Given the description of an element on the screen output the (x, y) to click on. 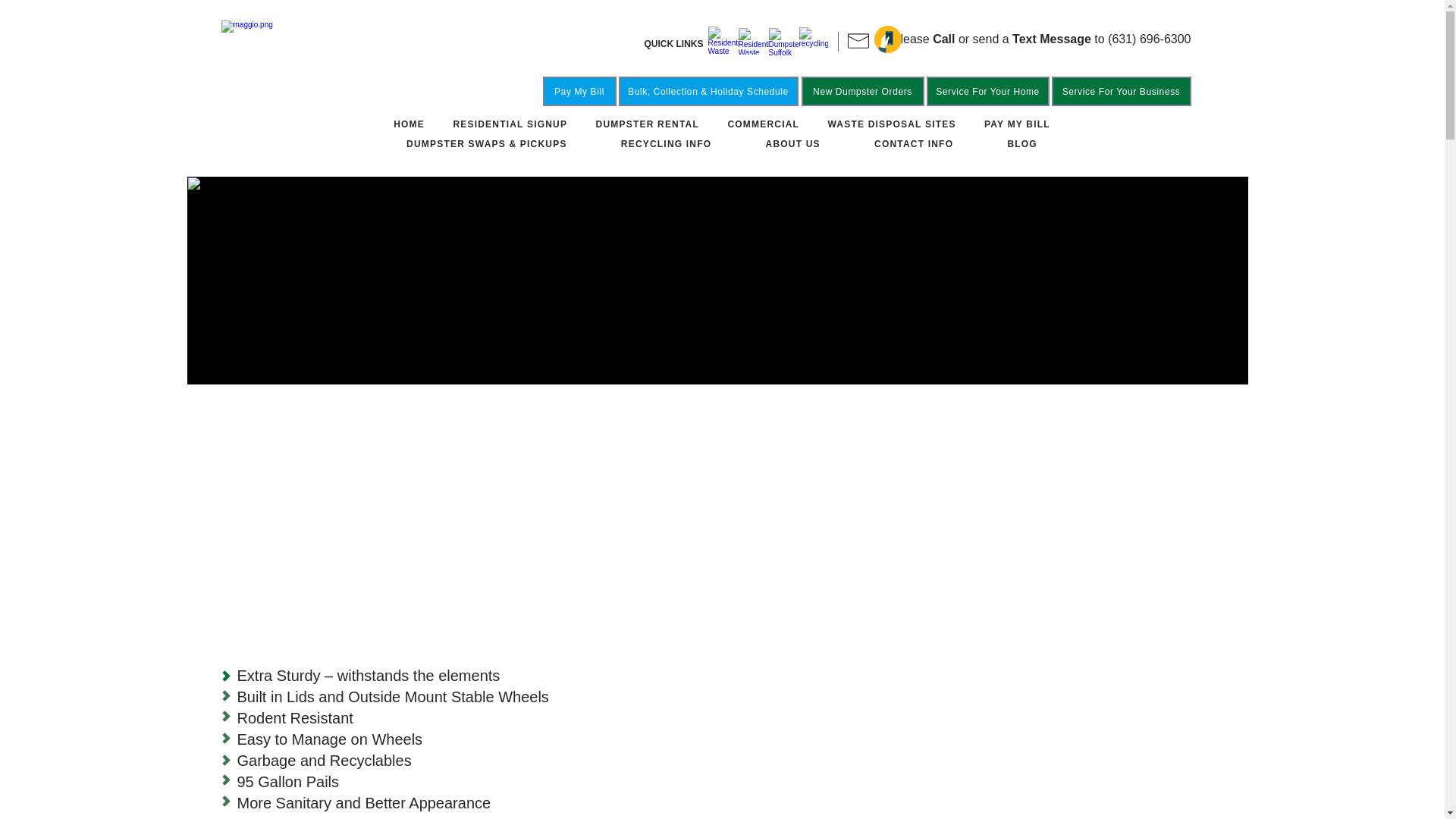
DUMPSTER RENTAL (646, 124)
Service For Your Business (1121, 91)
RESIDENTIAL SIGNUP (509, 124)
PAY MY BILL (1016, 124)
Service For Your Home (987, 91)
New Dumpster Orders (861, 91)
ABOUT US (792, 143)
WASTE DISPOSAL SITES (892, 124)
Pay My Bill (579, 91)
CONTACT INFO (913, 143)
HOME (408, 124)
BLOG (1021, 143)
RECYCLING INFO (666, 143)
COMMERCIAL (763, 124)
